Given the description of an element on the screen output the (x, y) to click on. 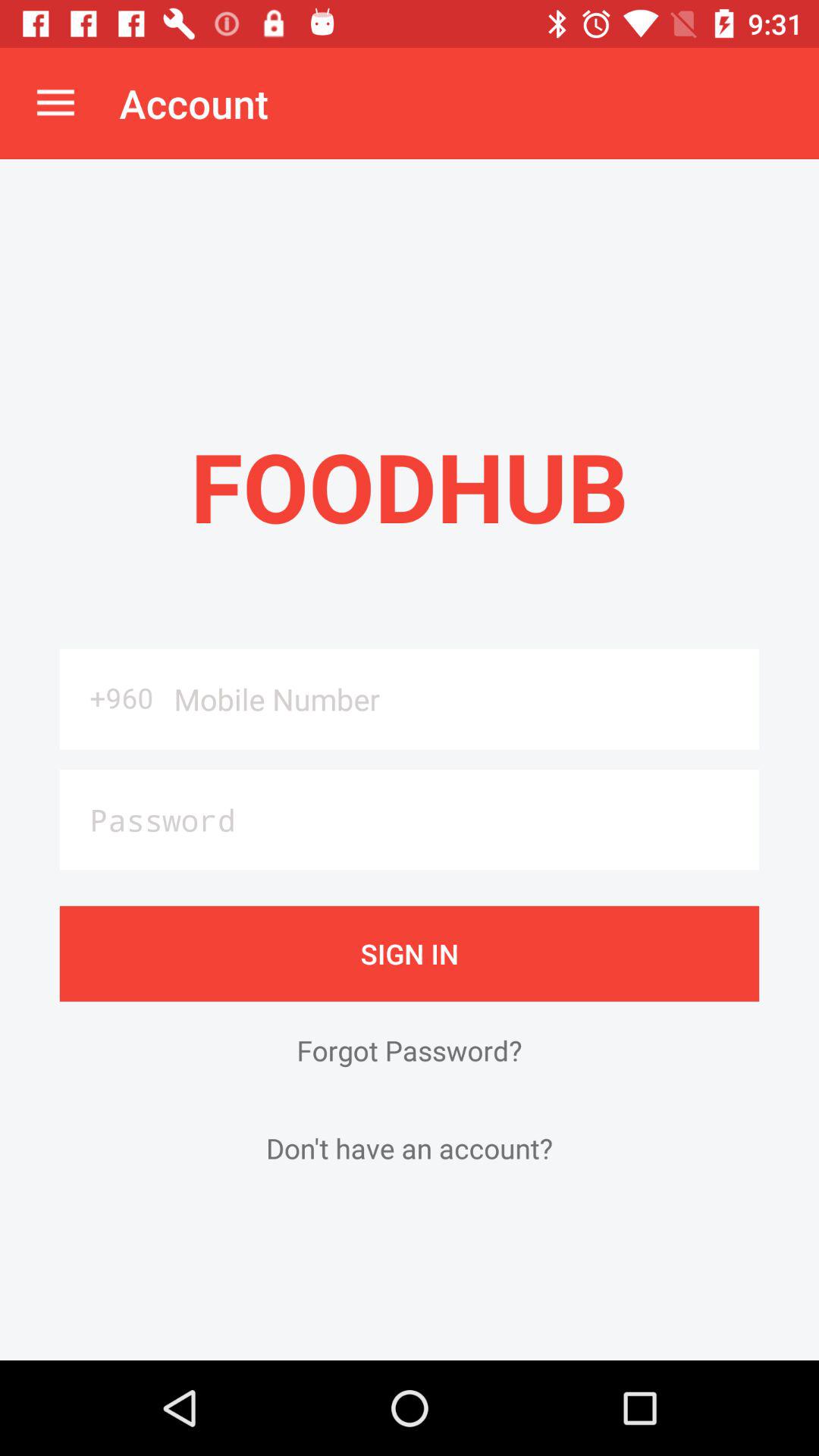
open icon above +960 item (55, 103)
